Given the description of an element on the screen output the (x, y) to click on. 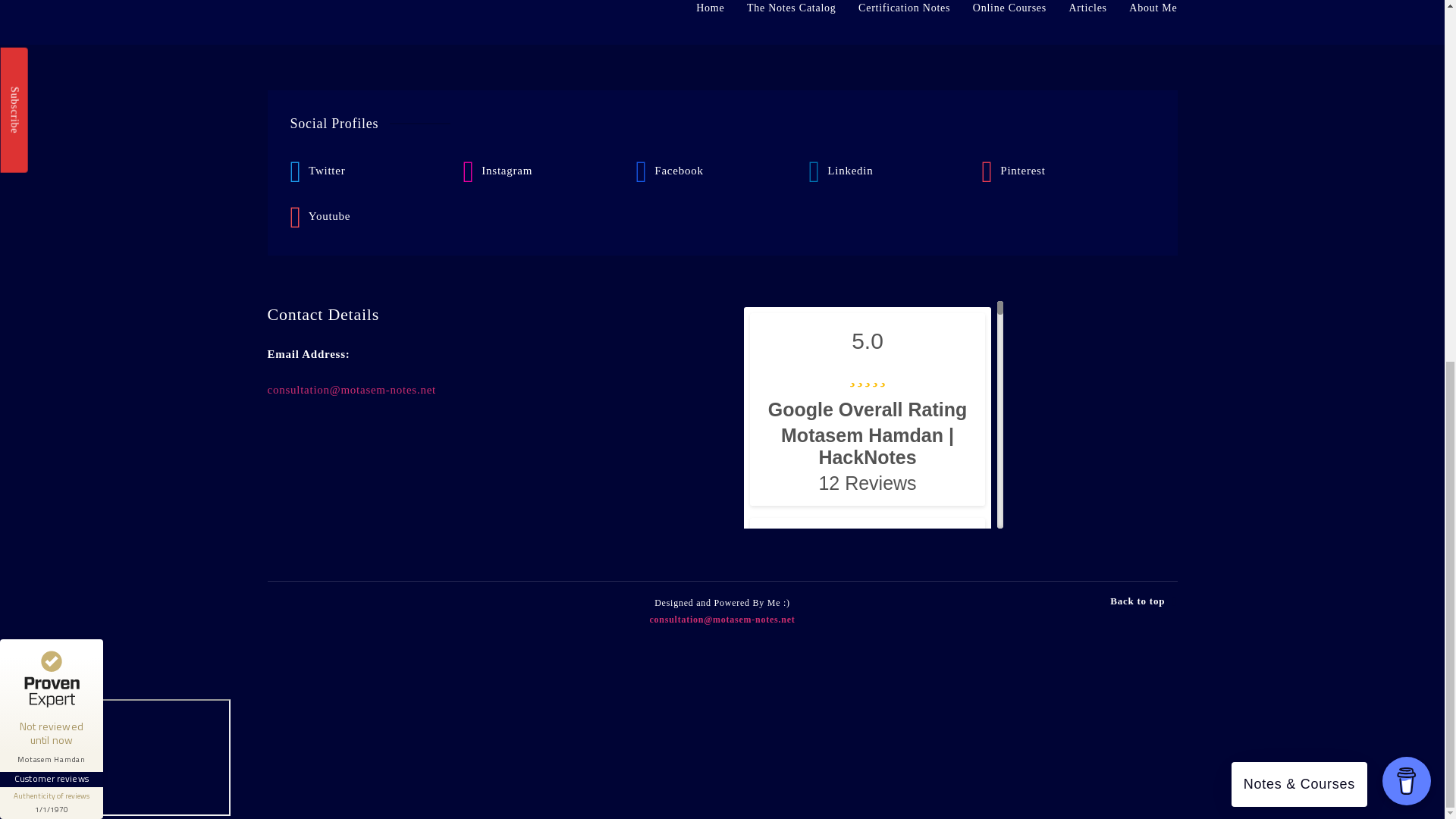
Authenticity of reviews (51, 160)
Get more information now (113, 148)
Close back side (13, 4)
